Given the description of an element on the screen output the (x, y) to click on. 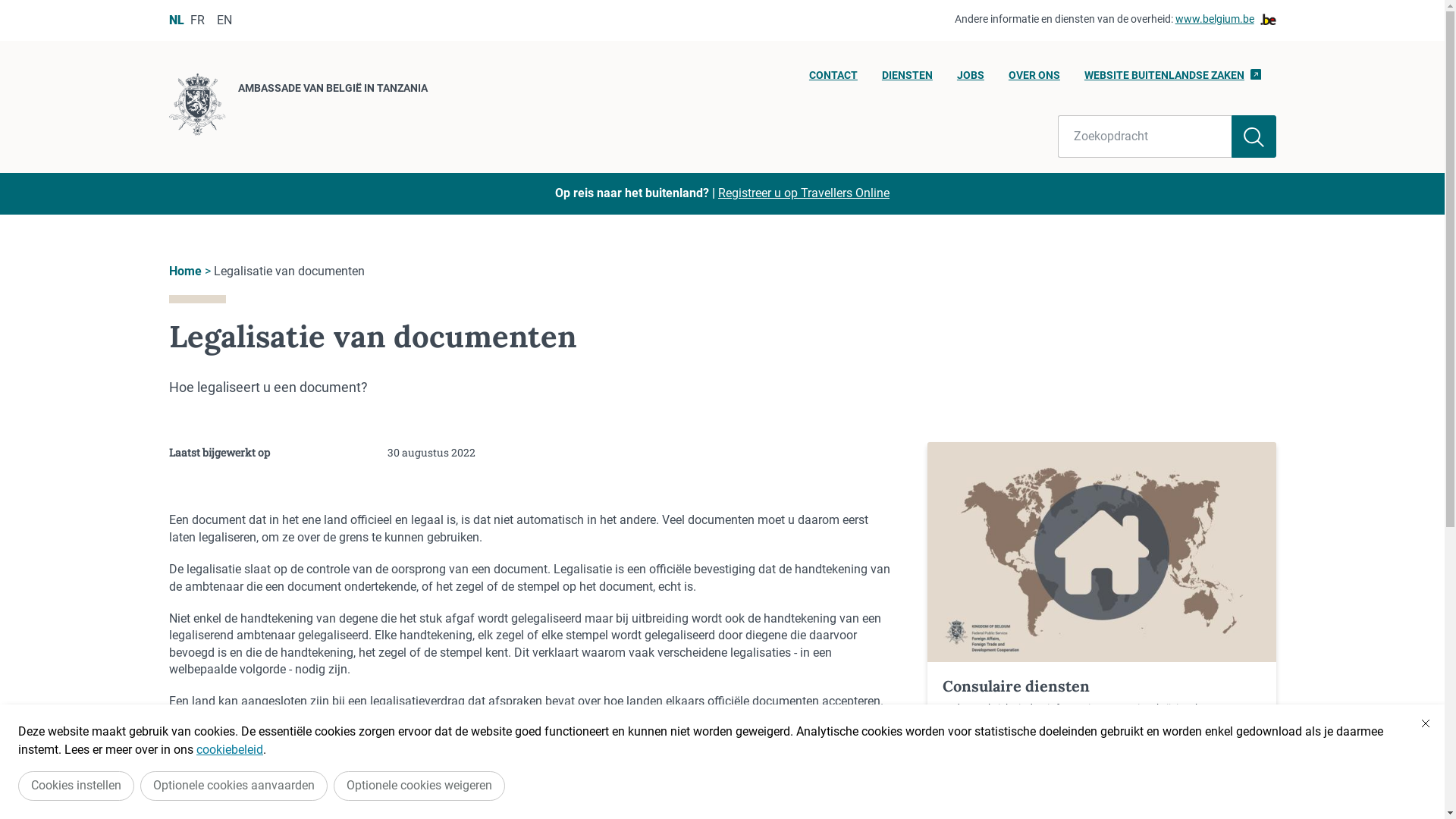
Zoekopdracht Element type: hover (1144, 136)
NL Element type: text (175, 19)
Optionele cookies aanvaarden Element type: text (233, 785)
OVER ONS Element type: text (1034, 79)
Apostilleverdag Element type: text (469, 718)
FR Element type: text (196, 19)
EN Element type: text (224, 19)
Home Element type: text (184, 270)
cookiebeleid Element type: text (229, 749)
DIENSTEN Element type: text (906, 79)
Filteren Element type: text (1253, 136)
JOBS Element type: text (970, 79)
CONTACT Element type: text (833, 79)
Optionele cookies weigeren Element type: text (419, 785)
WEBSITE BUITENLANDSE ZAKEN Element type: text (1172, 79)
Sluiten Element type: hover (1425, 723)
Skip to main content Element type: text (7, 4)
www.belgium.be Element type: text (1225, 19)
Cookies instellen Element type: text (76, 785)
Vragen en antwoorden over legalisatie van documenten Element type: text (328, 767)
Registreer u op Travellers Online Element type: text (803, 192)
